Given the description of an element on the screen output the (x, y) to click on. 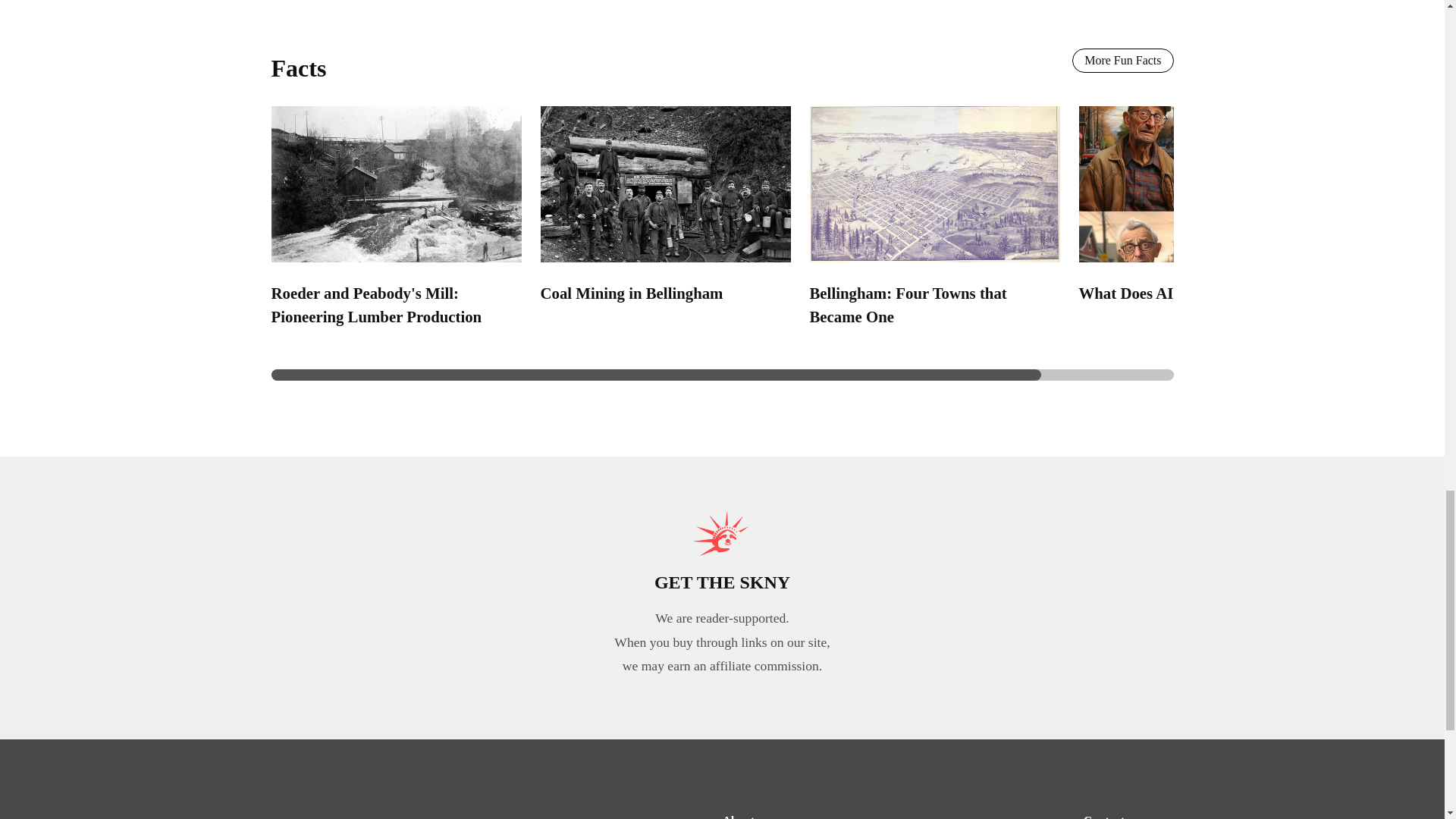
Roeder and Peabody's Mill: Pioneering Lumber Production (375, 304)
What Does AI Think of Bellingham? (1200, 293)
Coal Mining in Bellingham (631, 293)
More Fun Facts (1122, 60)
Bellingham: Four Towns that Became One (908, 304)
